Given the description of an element on the screen output the (x, y) to click on. 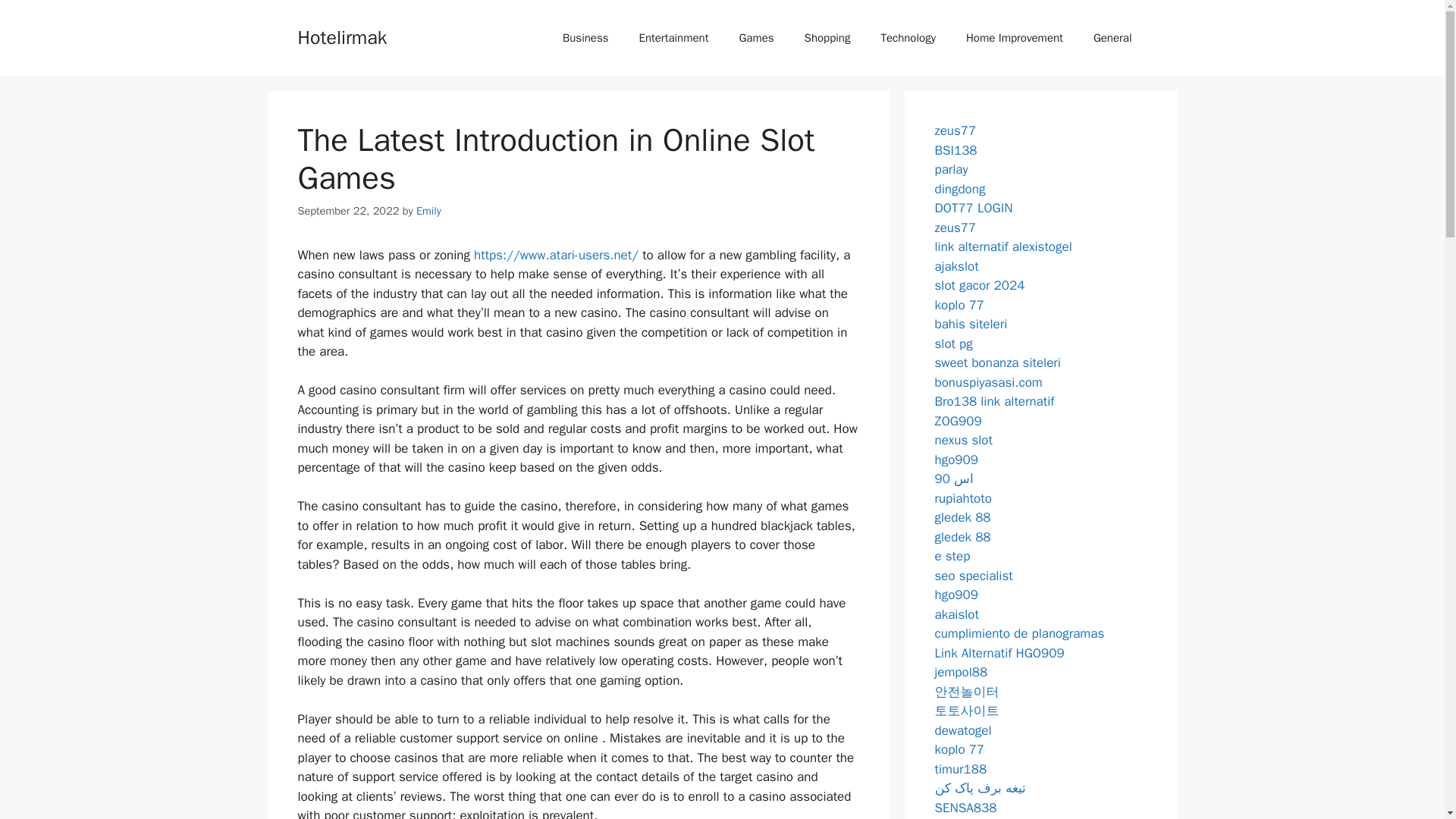
Home Improvement (1014, 37)
zeus77 (954, 130)
Business (585, 37)
hgo909 (955, 459)
Emily (428, 210)
Hotelirmak (342, 37)
bonuspiyasasi.com (988, 382)
slot pg (953, 342)
rupiahtoto (962, 497)
sweet bonanza siteleri (996, 362)
